Given the description of an element on the screen output the (x, y) to click on. 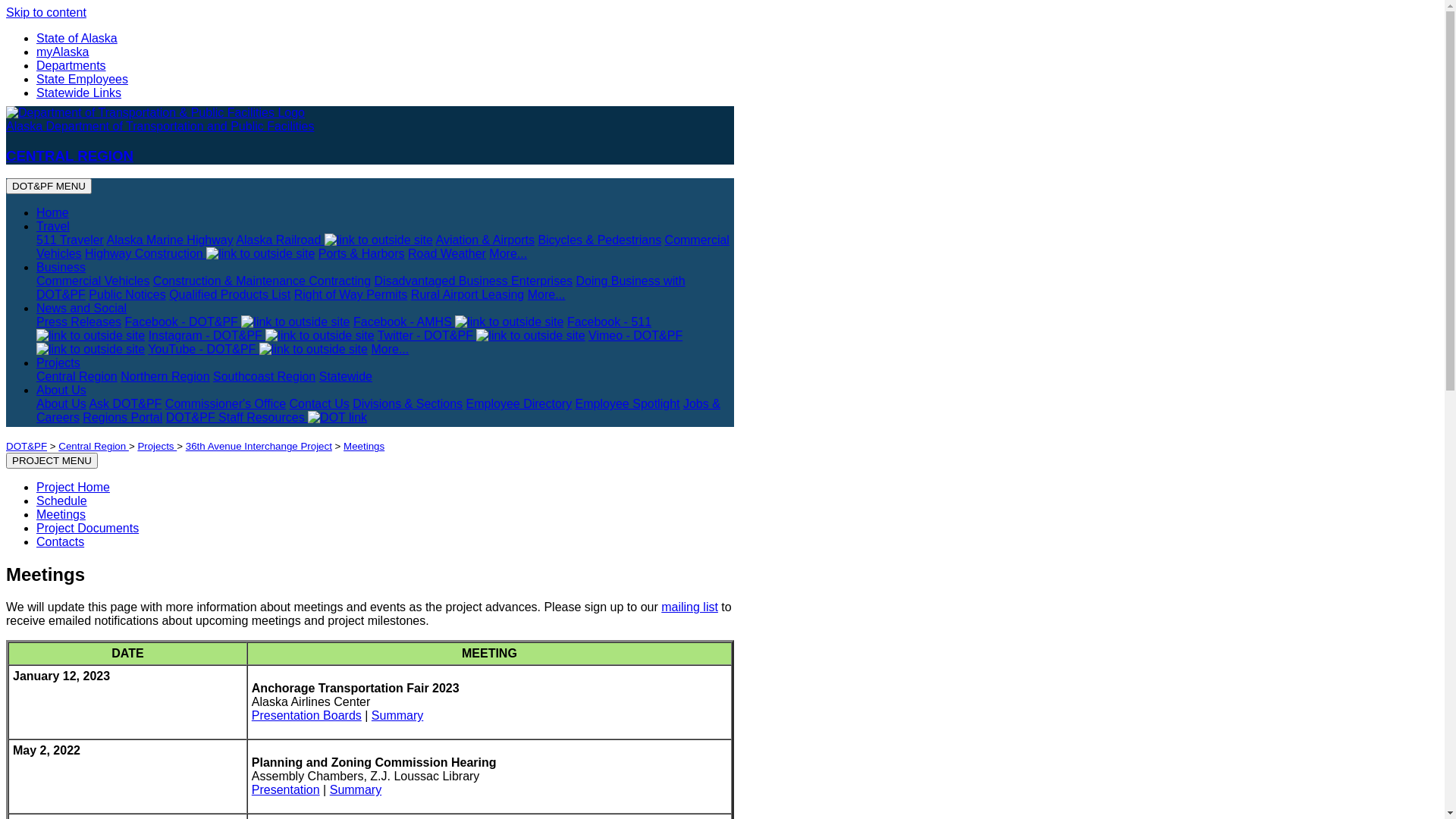
Ask DOT&PF Element type: text (124, 403)
Presentation Boards Element type: text (306, 715)
Meetings Element type: text (363, 445)
Presentation Element type: text (285, 789)
Right of Way Permits Element type: text (350, 294)
YouTube - DOT&PF Element type: text (257, 348)
Skip to content Element type: text (46, 12)
Schedule Element type: text (61, 500)
Projects Element type: text (58, 362)
Highway Construction Element type: text (199, 253)
Central Region Element type: text (93, 445)
mailing list Element type: text (689, 606)
Doing Business with DOT&PF Element type: text (360, 287)
511 Traveler Element type: text (69, 239)
Meetings Element type: text (60, 514)
Link to DOT&PF homepage Element type: hover (155, 112)
Project Documents Element type: text (87, 527)
Commercial Vehicles Element type: text (382, 246)
Central Region Element type: text (76, 376)
Statewide Links Element type: text (78, 92)
Summary Element type: text (355, 789)
Disadvantaged Business Enterprises Element type: text (473, 280)
Home Element type: text (52, 212)
Facebook - AMHS Element type: text (458, 321)
Employee Spotlight Element type: text (627, 403)
Southcoast Region Element type: text (264, 376)
Press Releases Element type: text (78, 321)
Alaska Marine Highway Element type: text (169, 239)
DOT&PF Staff Resources Element type: text (266, 417)
News and Social Element type: text (81, 307)
Twitter - DOT&PF Element type: text (481, 335)
Departments Element type: text (71, 65)
About Us Element type: text (61, 389)
Contact Us Element type: text (319, 403)
Divisions & Sections Element type: text (407, 403)
Aviation & Airports Element type: text (484, 239)
DOT&PF MENU Element type: text (48, 186)
Travel Element type: text (52, 225)
Alaska Railroad Element type: text (334, 239)
36th Avenue Interchange Project Element type: text (258, 445)
Rural Airport Leasing Element type: text (467, 294)
myAlaska Element type: text (62, 51)
State of Alaska Element type: text (76, 37)
Contacts Element type: text (60, 541)
Regions Portal Element type: text (122, 417)
Commissioner's Office Element type: text (225, 403)
Northern Region Element type: text (164, 376)
More... Element type: text (389, 348)
Qualified Products List Element type: text (229, 294)
Road Weather Element type: text (446, 253)
Projects Element type: text (156, 445)
Employee Directory Element type: text (519, 403)
Ports & Harbors Element type: text (361, 253)
Business Element type: text (60, 266)
State Employees Element type: text (82, 78)
Project Home Element type: text (72, 486)
Bicycles & Pedestrians Element type: text (599, 239)
Summary Element type: text (397, 715)
PROJECT MENU Element type: text (51, 460)
Facebook - 511 Element type: text (343, 328)
More... Element type: text (546, 294)
Jobs & Careers Element type: text (378, 410)
Commercial Vehicles Element type: text (92, 280)
Construction & Maintenance Contracting Element type: text (261, 280)
About Us Element type: text (61, 403)
More... Element type: text (508, 253)
DOT&PF Element type: text (26, 445)
Public Notices Element type: text (126, 294)
Statewide Element type: text (345, 376)
Facebook - DOT&PF Element type: text (236, 321)
Instagram - DOT&PF Element type: text (261, 335)
Vimeo - DOT&PF Element type: text (359, 342)
